Given the description of an element on the screen output the (x, y) to click on. 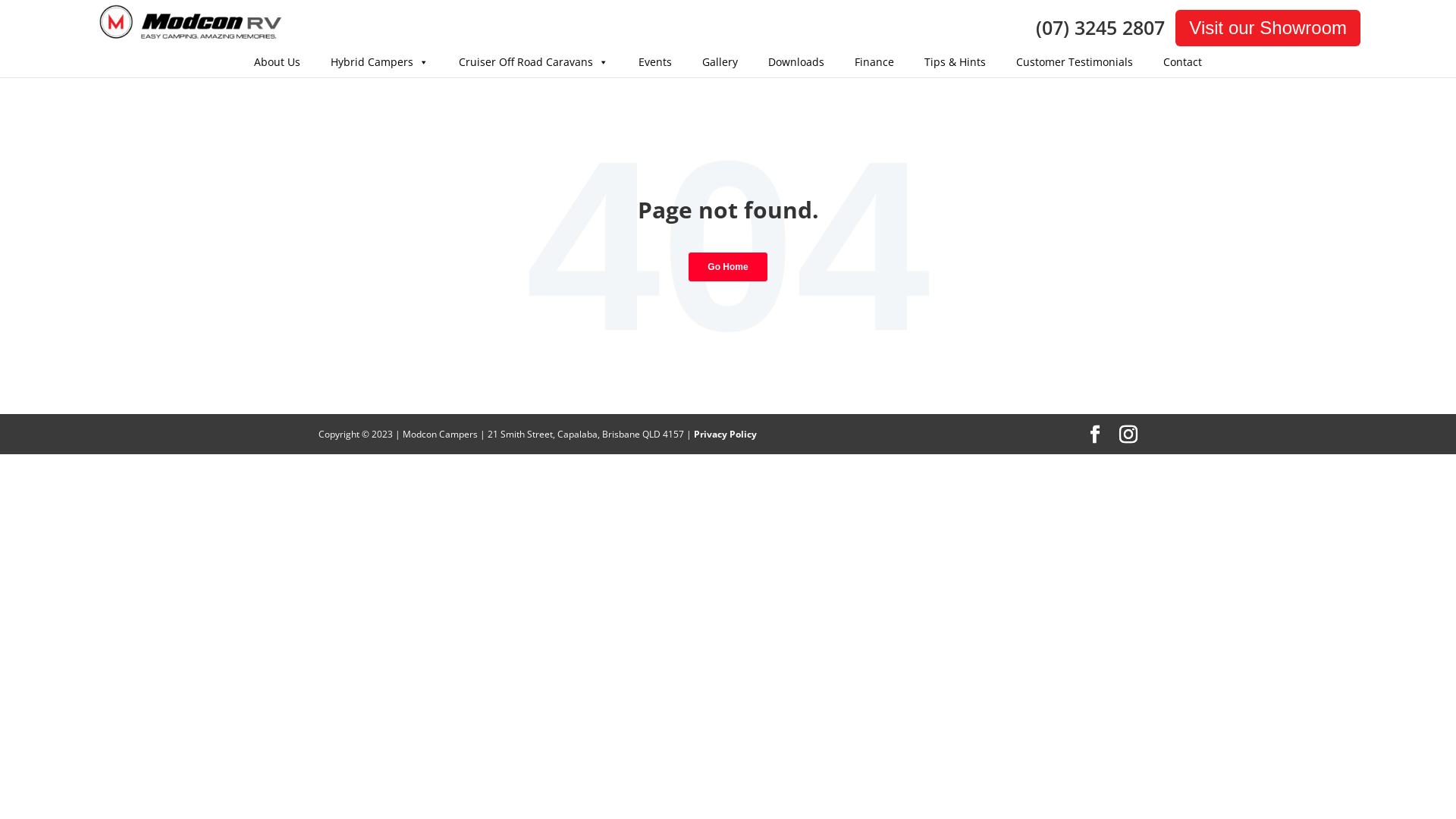
Customer Testimonials Element type: text (1074, 62)
Tips & Hints Element type: text (955, 62)
Gallery Element type: text (720, 62)
Go Home Element type: text (727, 266)
Contact Element type: text (1182, 62)
About Us Element type: text (276, 62)
(07) 3245 2807 Element type: text (1103, 27)
Privacy Policy Element type: text (724, 433)
Cruiser Off Road Caravans Element type: text (533, 62)
Hybrid Campers Element type: text (379, 62)
Finance Element type: text (874, 62)
Downloads Element type: text (796, 62)
Events Element type: text (655, 62)
Visit our Showroom Element type: text (1267, 27)
